Given the description of an element on the screen output the (x, y) to click on. 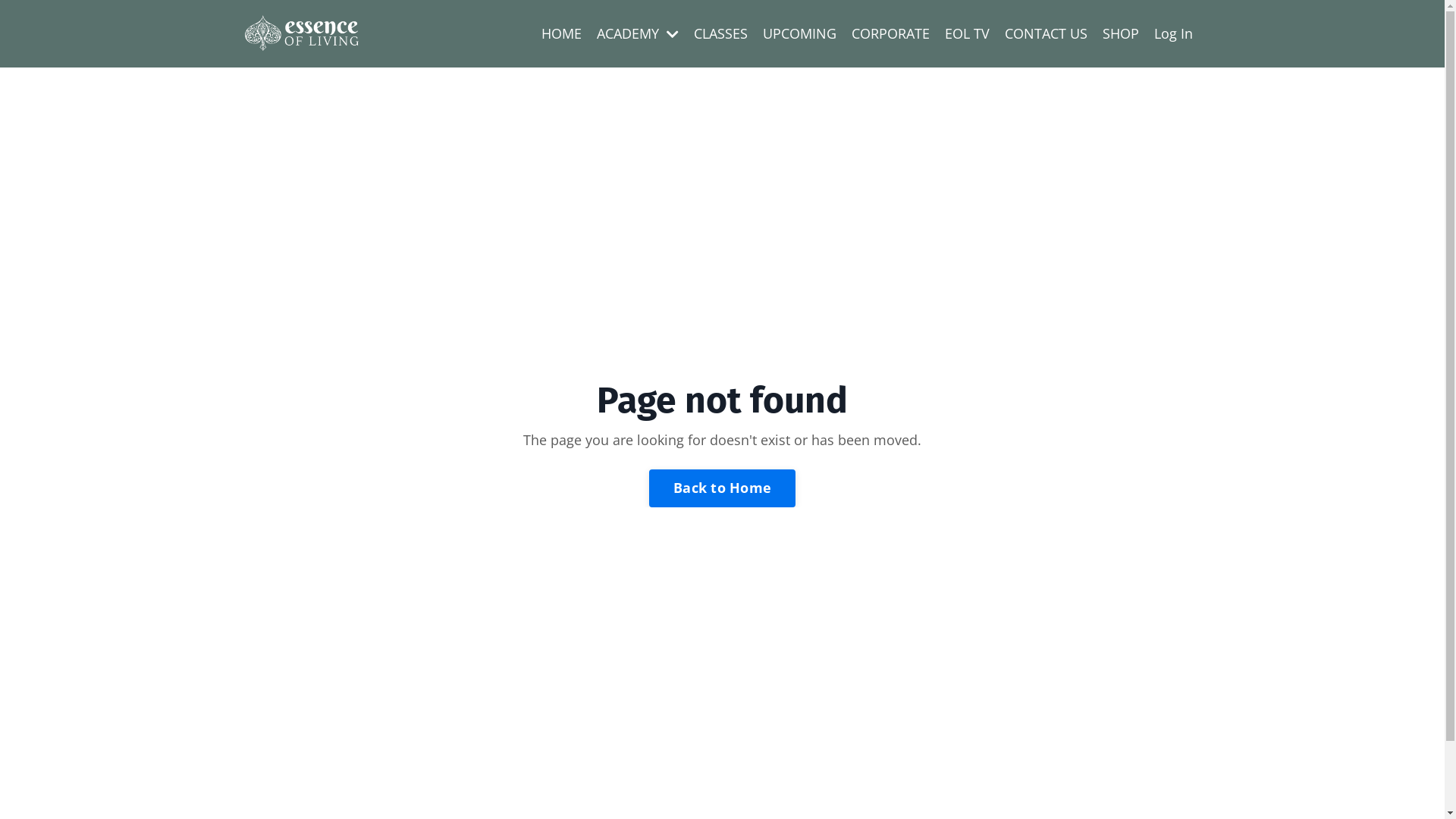
ACADEMY Element type: text (636, 33)
Log In Element type: text (1173, 33)
Back to Home Element type: text (722, 488)
CLASSES Element type: text (719, 33)
UPCOMING Element type: text (799, 33)
CORPORATE Element type: text (889, 33)
CONTACT US Element type: text (1045, 33)
HOME Element type: text (561, 33)
SHOP Element type: text (1120, 33)
EOL TV Element type: text (966, 33)
